Given the description of an element on the screen output the (x, y) to click on. 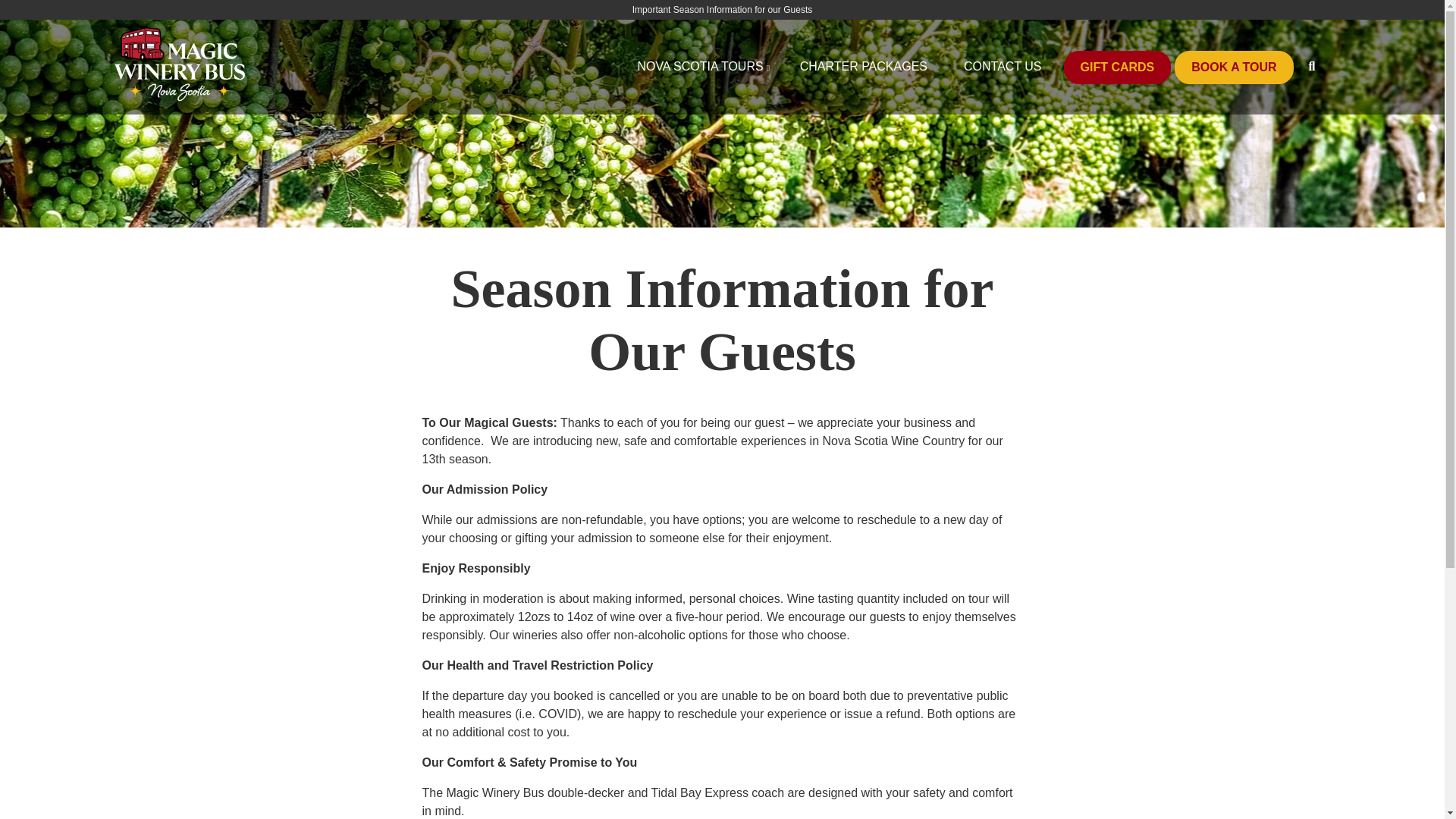
GIFT CARDS (1118, 67)
BOOK A TOUR (1233, 67)
CHARTER PACKAGES (862, 66)
NOVA SCOTIA TOURS (699, 66)
Magic Winery Bus (162, 123)
CONTACT US (1001, 66)
